Given the description of an element on the screen output the (x, y) to click on. 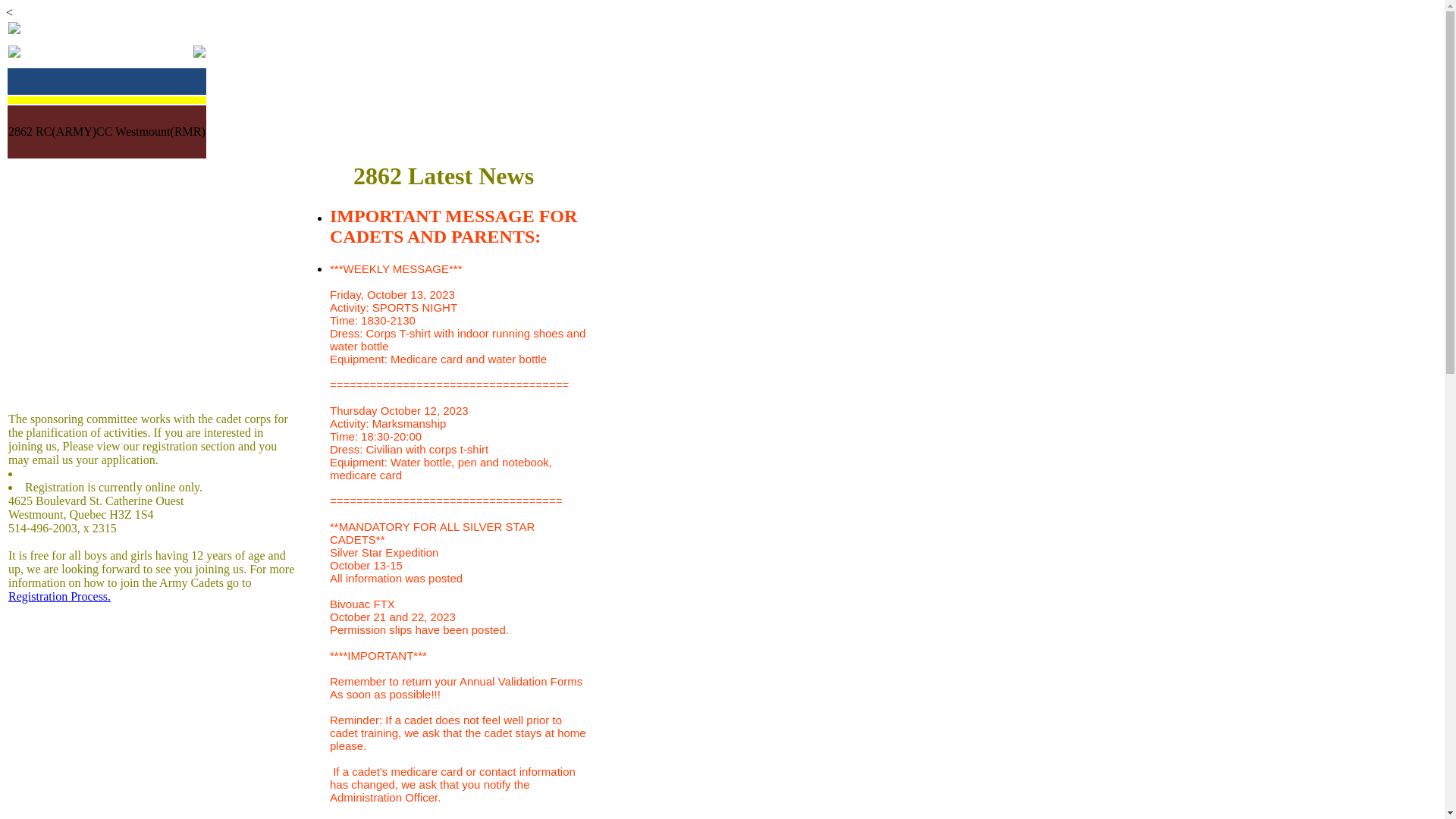
Registration Process. Element type: text (59, 595)
